Given the description of an element on the screen output the (x, y) to click on. 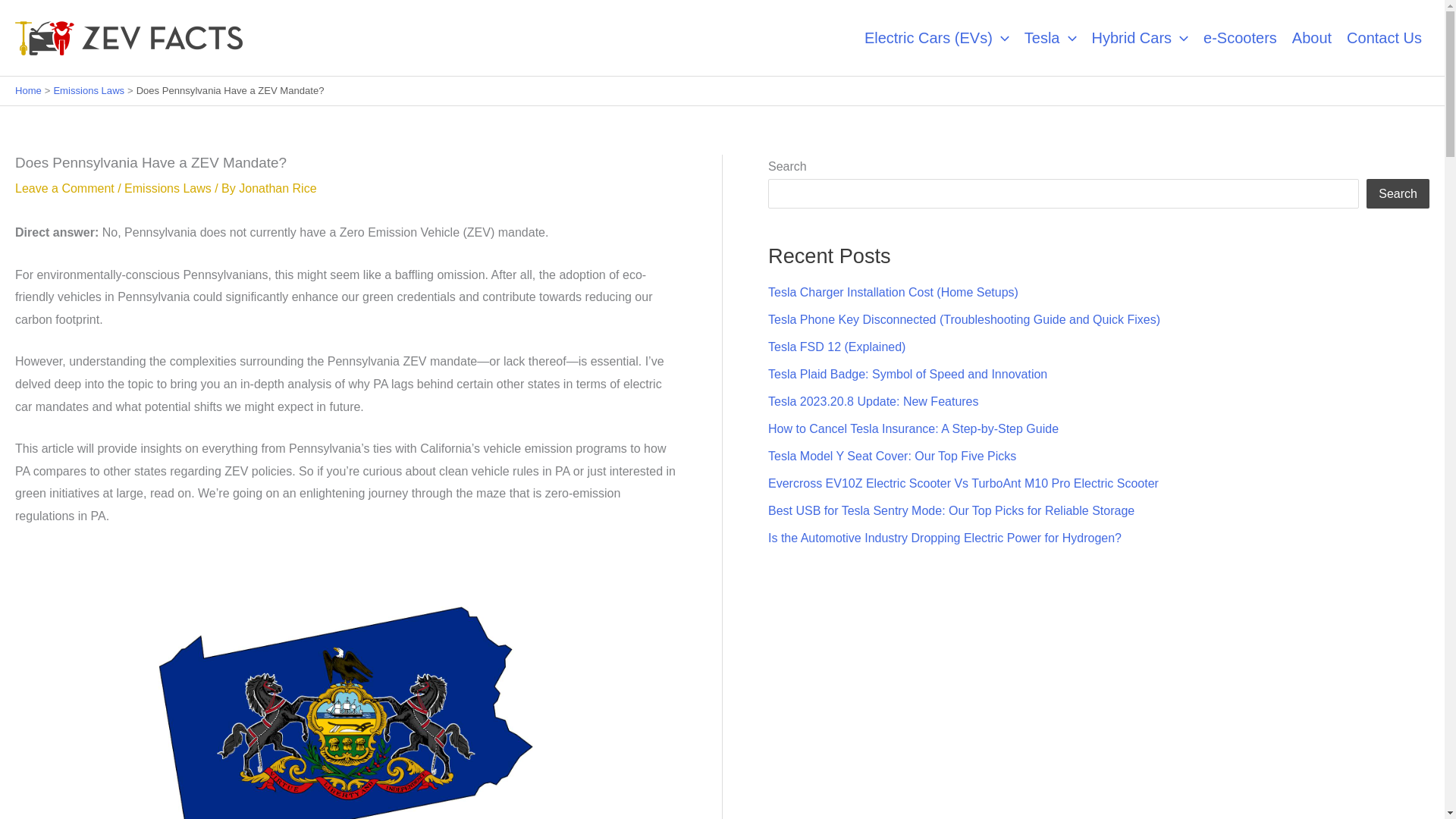
Contact Us (1384, 38)
Tesla (1050, 38)
Hybrid Cars (1140, 38)
View all posts by Jonathan Rice (276, 187)
e-Scooters (1239, 38)
